Given the description of an element on the screen output the (x, y) to click on. 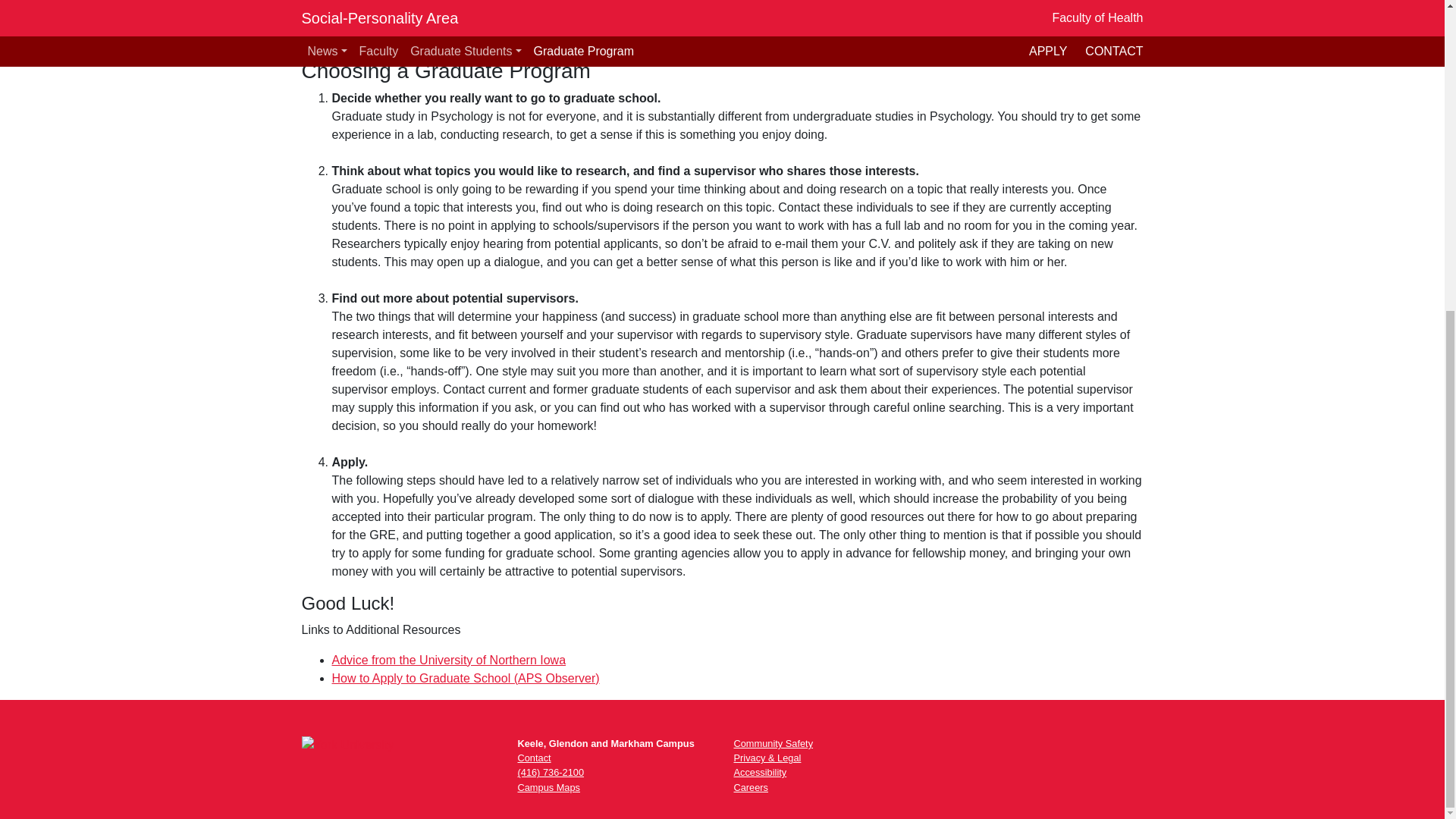
Contact (533, 757)
Advice from the University of Northern Iowa (448, 659)
